Given the description of an element on the screen output the (x, y) to click on. 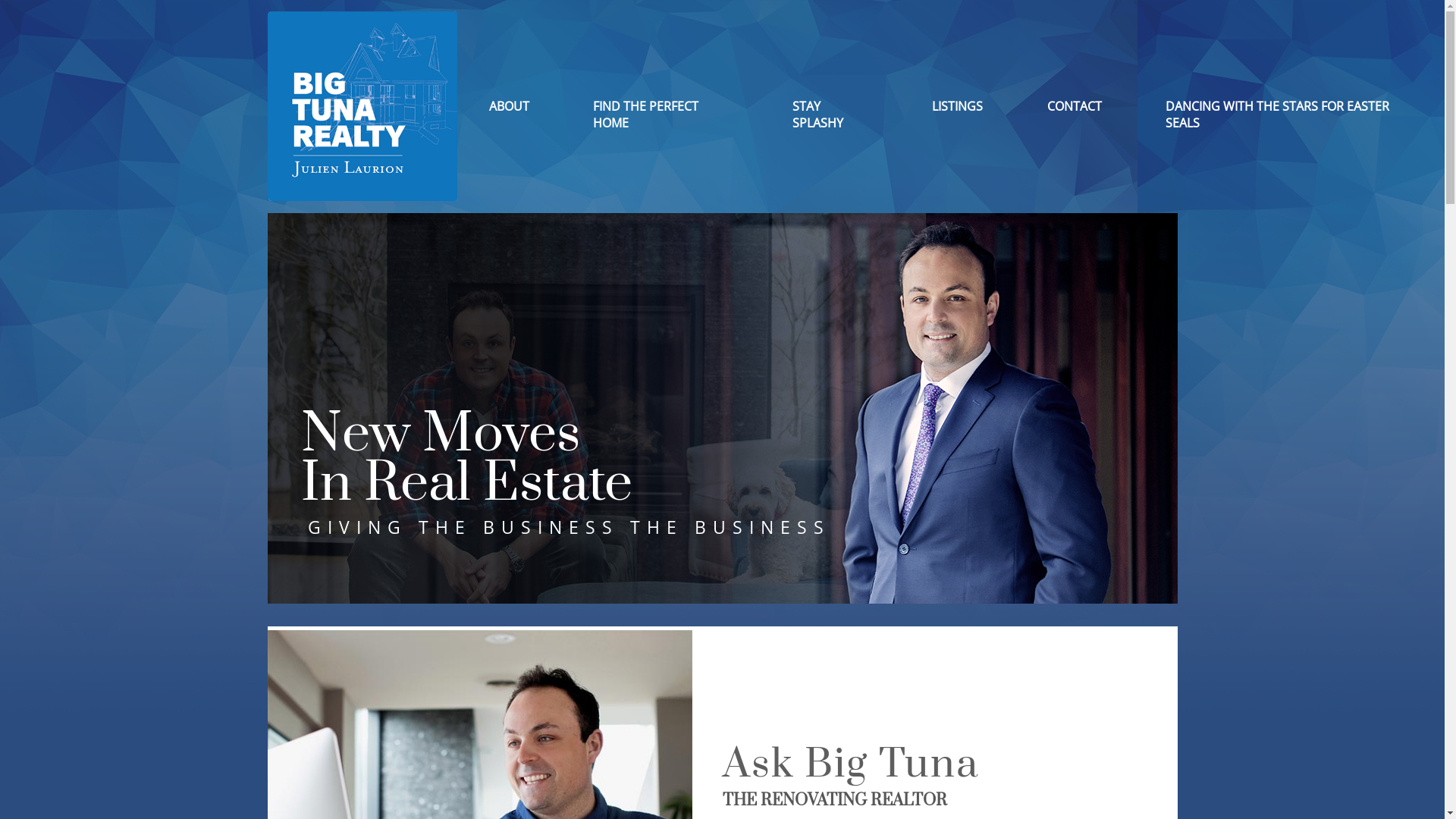
LISTINGS Element type: text (957, 105)
ABOUT Element type: text (508, 105)
STAY SPLASHY Element type: text (830, 114)
CONTACT Element type: text (1073, 105)
DANCING WITH THE STARS FOR EASTER SEALS Element type: text (1288, 114)
FIND THE PERFECT HOME Element type: text (660, 114)
